Given the description of an element on the screen output the (x, y) to click on. 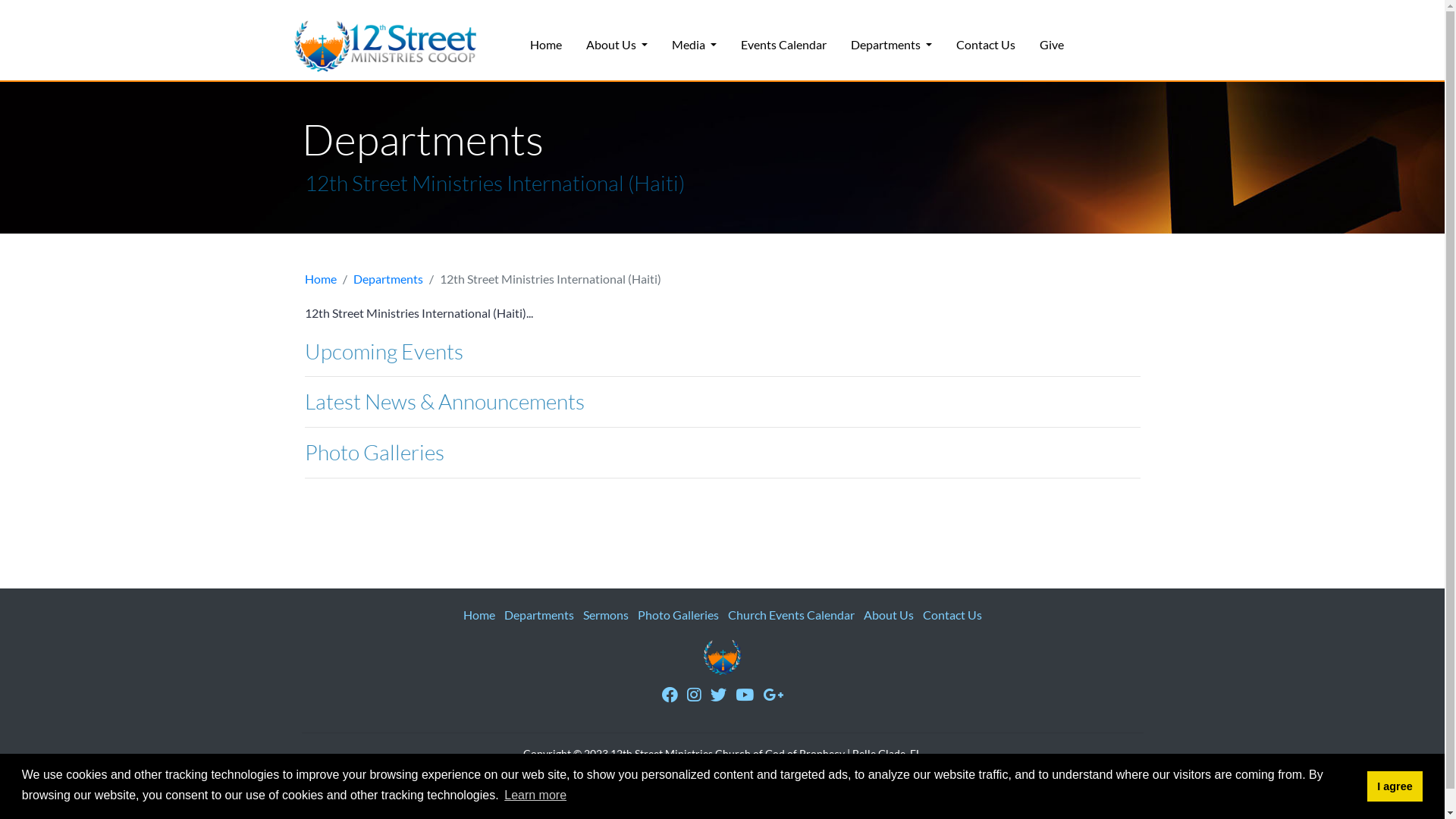
Learn more Element type: text (535, 795)
I agree Element type: text (1394, 786)
Departments Element type: text (538, 614)
Home Element type: text (320, 278)
About Us Element type: text (615, 44)
Give Element type: text (1051, 44)
Photo Galleries Element type: text (677, 614)
Connect with us on Instagram Element type: hover (694, 694)
Church Events Calendar Element type: text (791, 614)
Connect with us on twitter Element type: hover (717, 694)
About Us Element type: text (887, 614)
Departments Element type: text (891, 44)
Sermons Element type: text (604, 614)
Home Element type: text (478, 614)
Events Calendar Element type: text (783, 44)
Media Element type: text (693, 44)
Connect with us on YouTube Element type: hover (744, 694)
Connect with us on facebook Element type: hover (669, 694)
Church Website and Hosting Solution. Element type: text (809, 770)
Contact Us Element type: text (985, 44)
Contact Us Element type: text (951, 614)
Connect with us on Google+ Element type: hover (772, 694)
Departments Element type: text (388, 278)
Home Element type: text (545, 44)
